Given the description of an element on the screen output the (x, y) to click on. 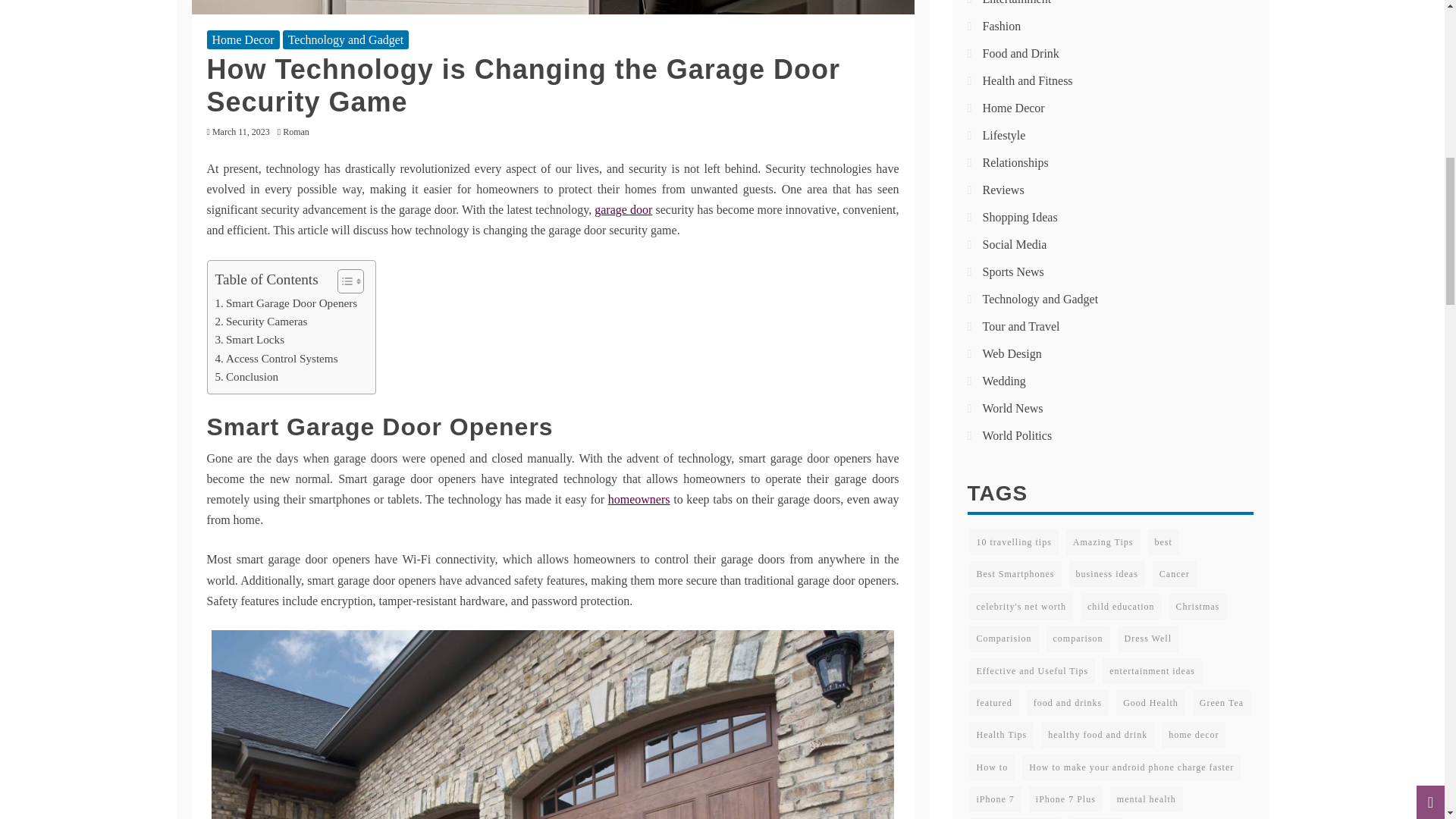
Roman (299, 131)
garage door (623, 209)
Security Cameras (261, 321)
Home Decor (242, 39)
Smart Garage Door Openers (286, 303)
Technology and Gadget (345, 39)
Access Control Systems (276, 358)
Smart Locks (250, 339)
March 11, 2023 (240, 131)
Conclusion (247, 376)
